Given the description of an element on the screen output the (x, y) to click on. 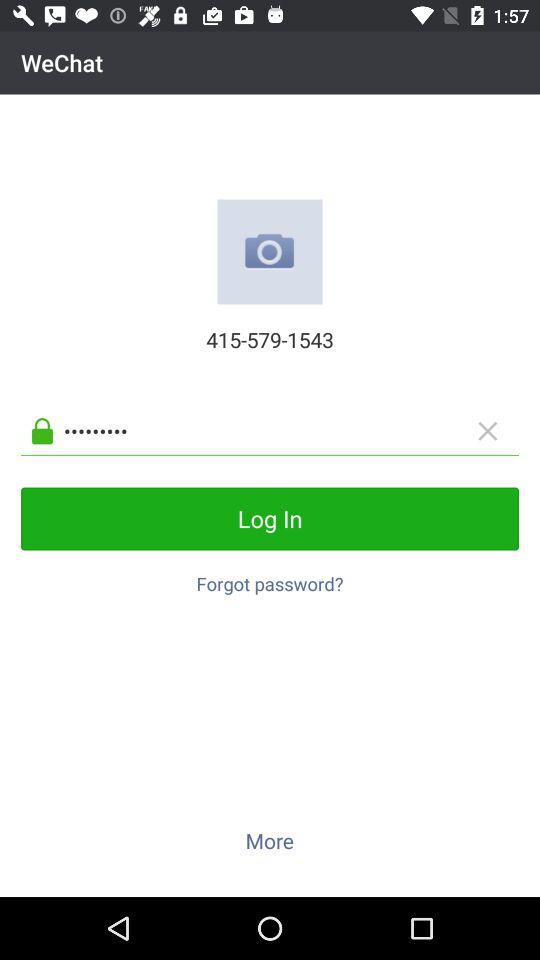
flip until the more (269, 840)
